Given the description of an element on the screen output the (x, y) to click on. 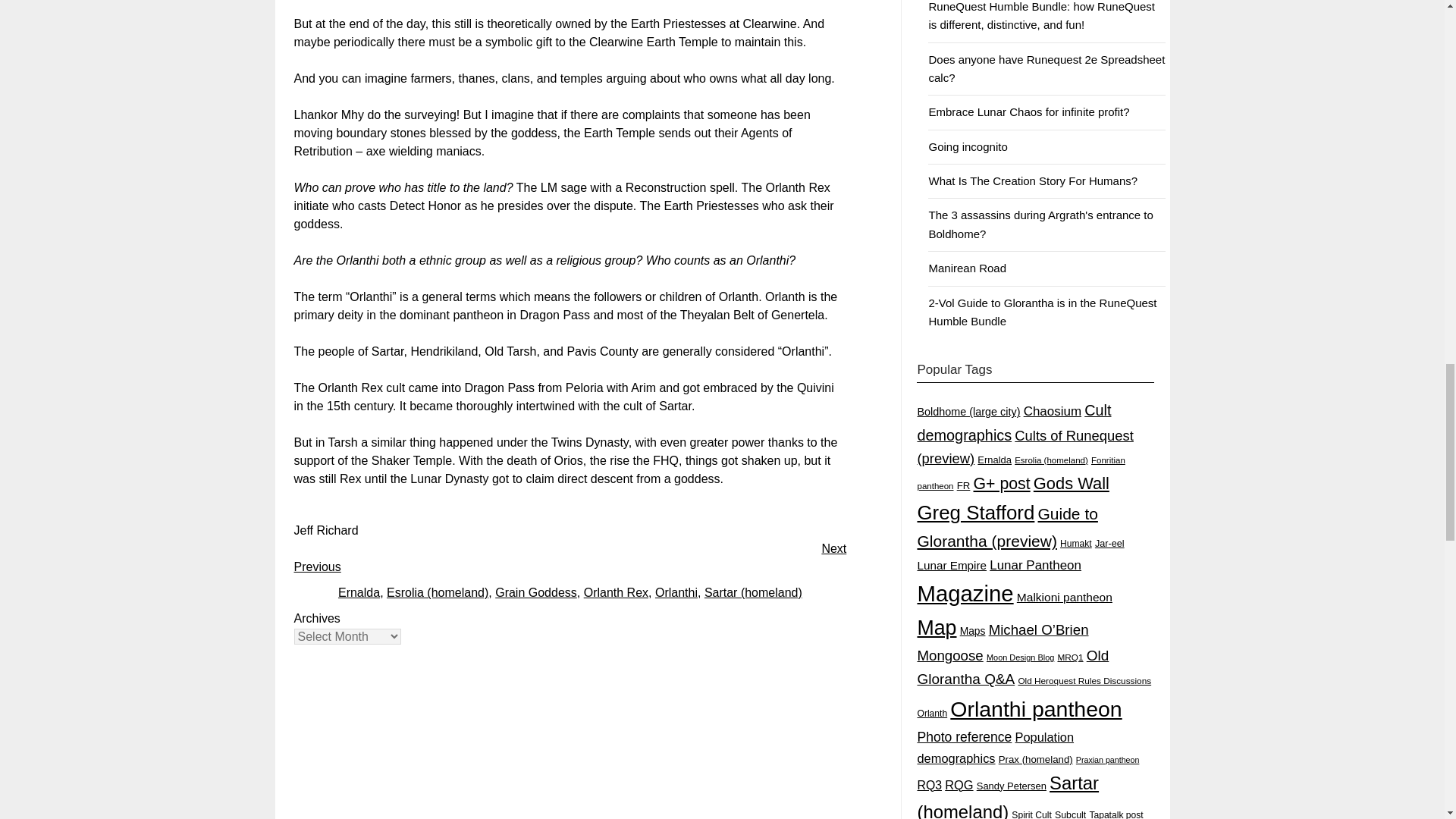
Previous (317, 566)
Orlanth Rex (615, 592)
Orlanthi (676, 592)
Ernalda (358, 592)
Next (833, 548)
Grain Goddess (535, 592)
